Given the description of an element on the screen output the (x, y) to click on. 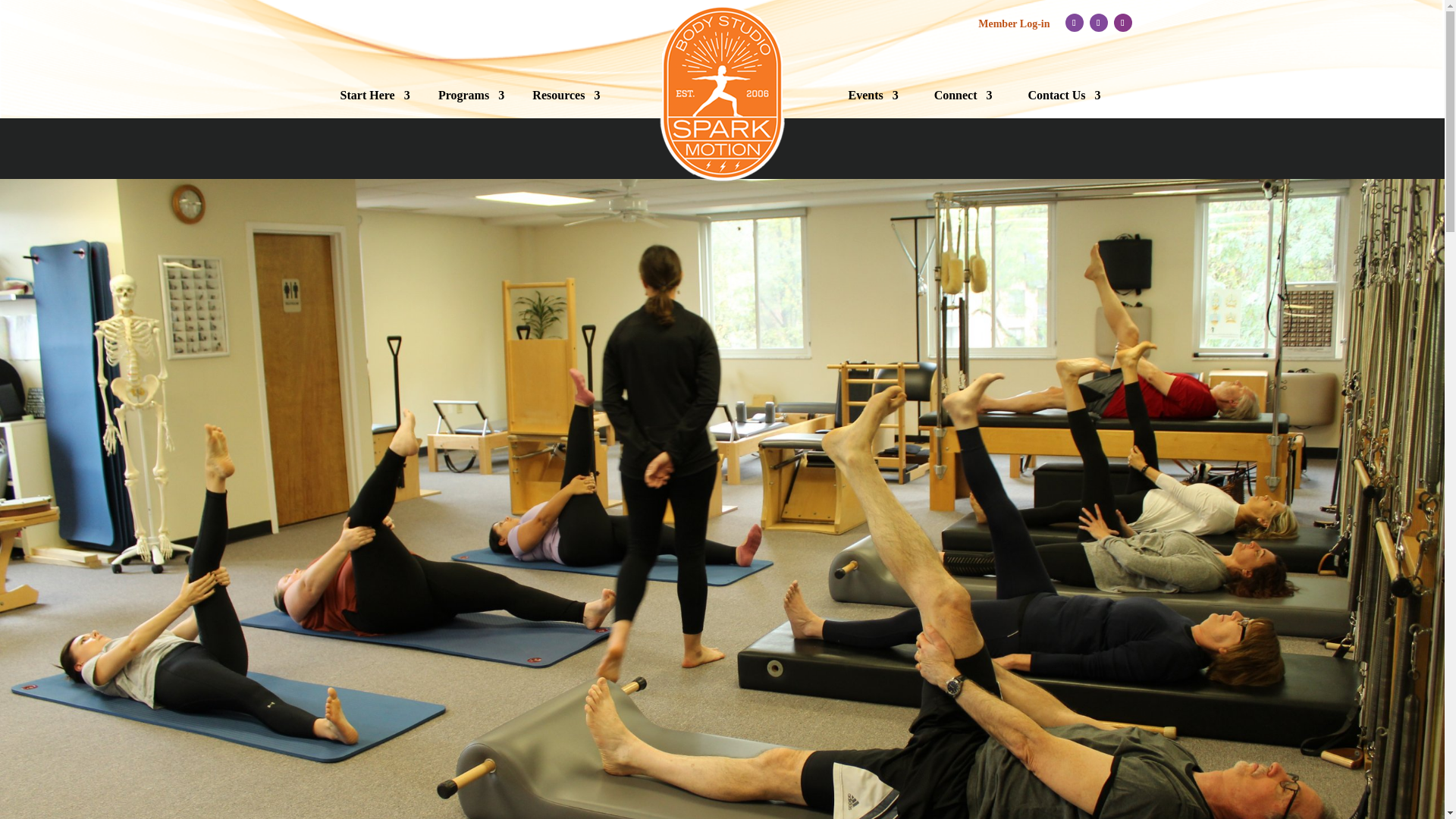
Follow on Instagram (1122, 22)
Follow on Yelp (1097, 22)
Follow on Facebook (1073, 22)
spark-motion-logo (722, 93)
Member Log-in (1013, 23)
